Given the description of an element on the screen output the (x, y) to click on. 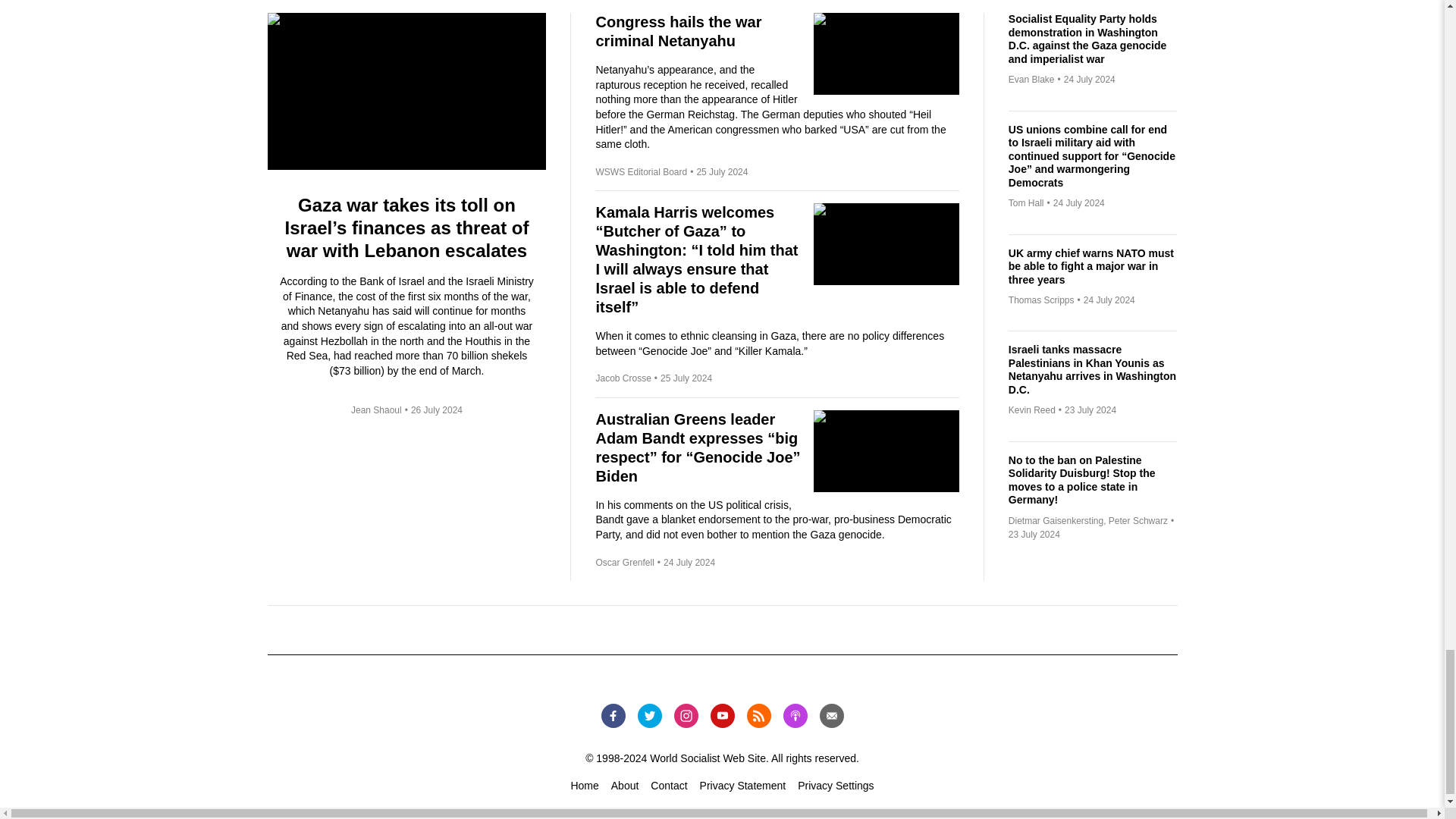
Privacy Statement (743, 785)
Privacy Settings (835, 785)
Home (584, 785)
About (625, 785)
Contact (669, 785)
